Given the description of an element on the screen output the (x, y) to click on. 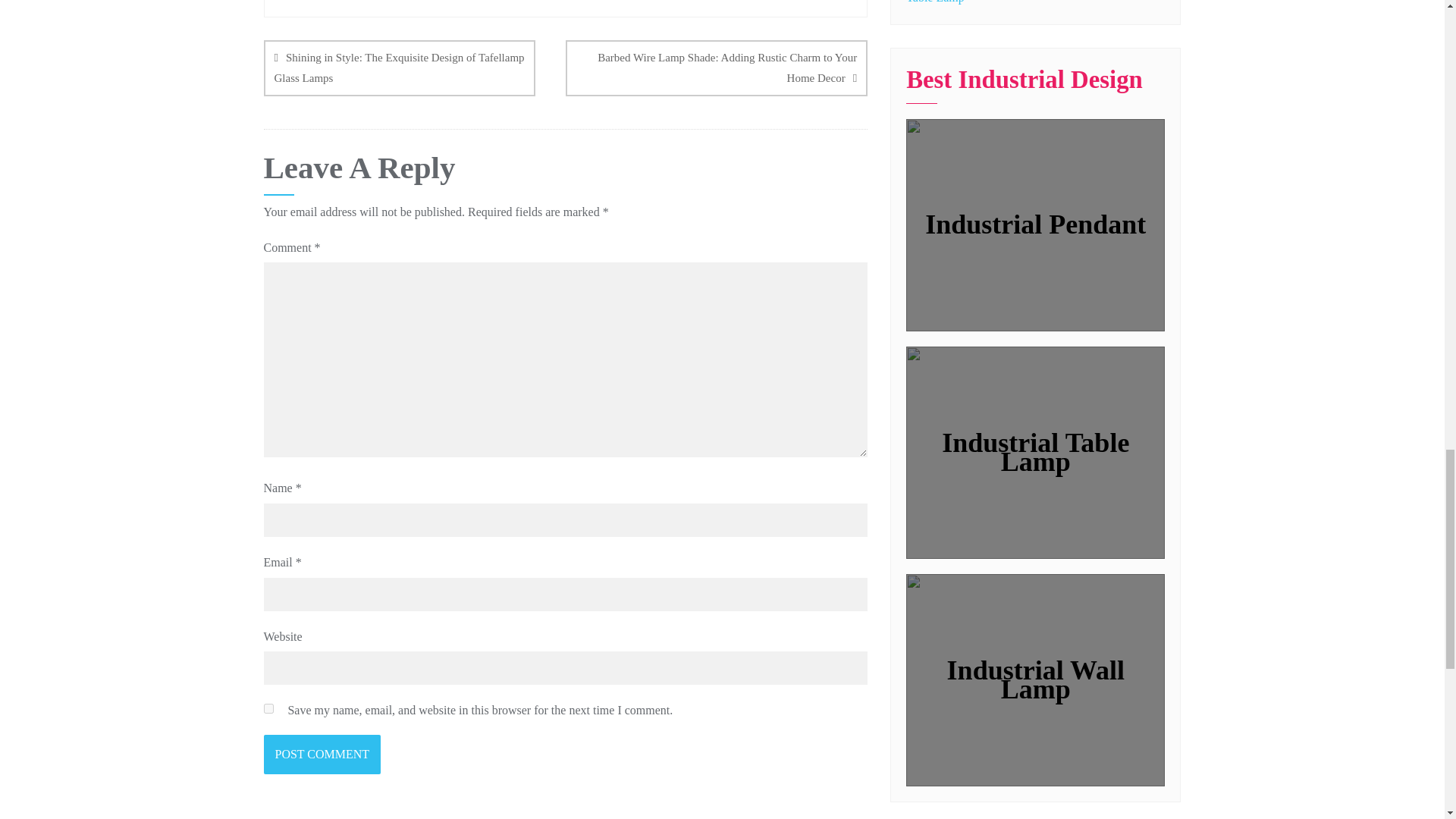
Post Comment (322, 754)
yes (268, 708)
Post Comment (322, 754)
